Given the description of an element on the screen output the (x, y) to click on. 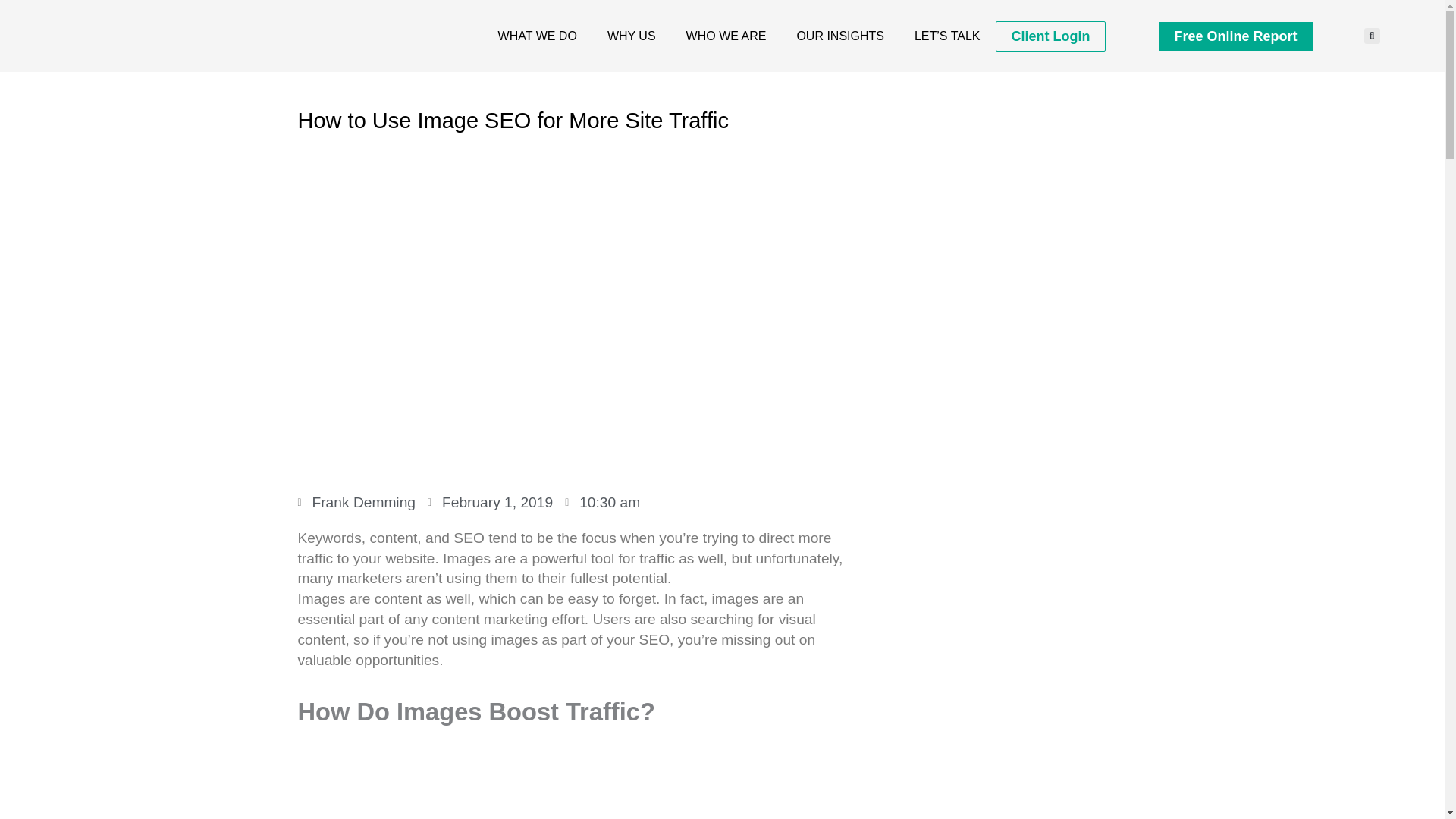
WHAT WE DO (537, 35)
What We Do (537, 35)
Why Us (631, 35)
Free Online Report (1234, 35)
Who We Are (726, 35)
Contact Us (947, 35)
WHO WE ARE (726, 35)
WHY US (631, 35)
OUR INSIGHTS (839, 35)
Client Login (1049, 36)
